Given the description of an element on the screen output the (x, y) to click on. 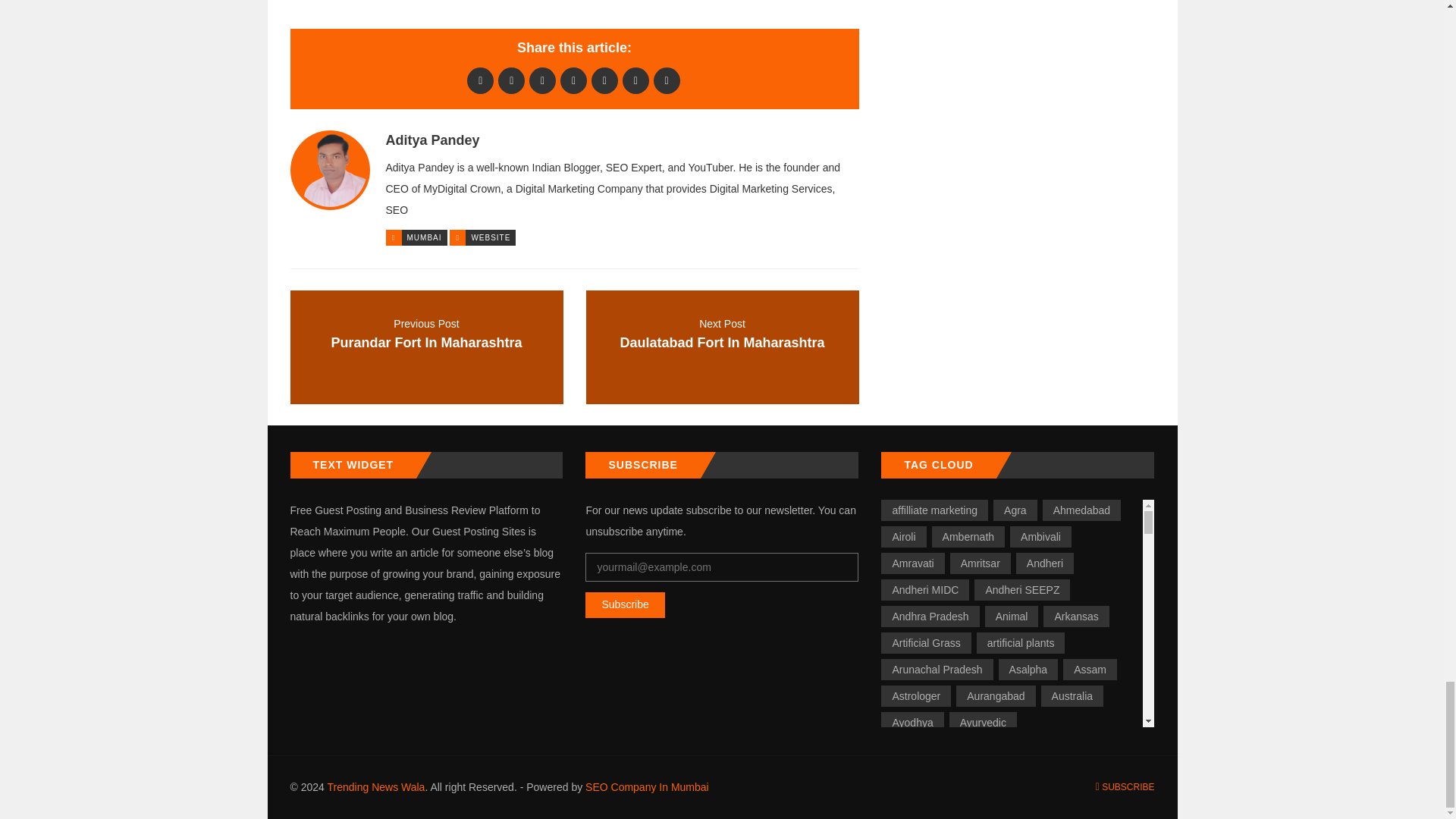
Twitter (510, 80)
Linkedin (604, 80)
Facebook (480, 80)
Digg (542, 80)
StumbleUpon (666, 80)
Pinterest (636, 80)
Reddit (573, 80)
